Given the description of an element on the screen output the (x, y) to click on. 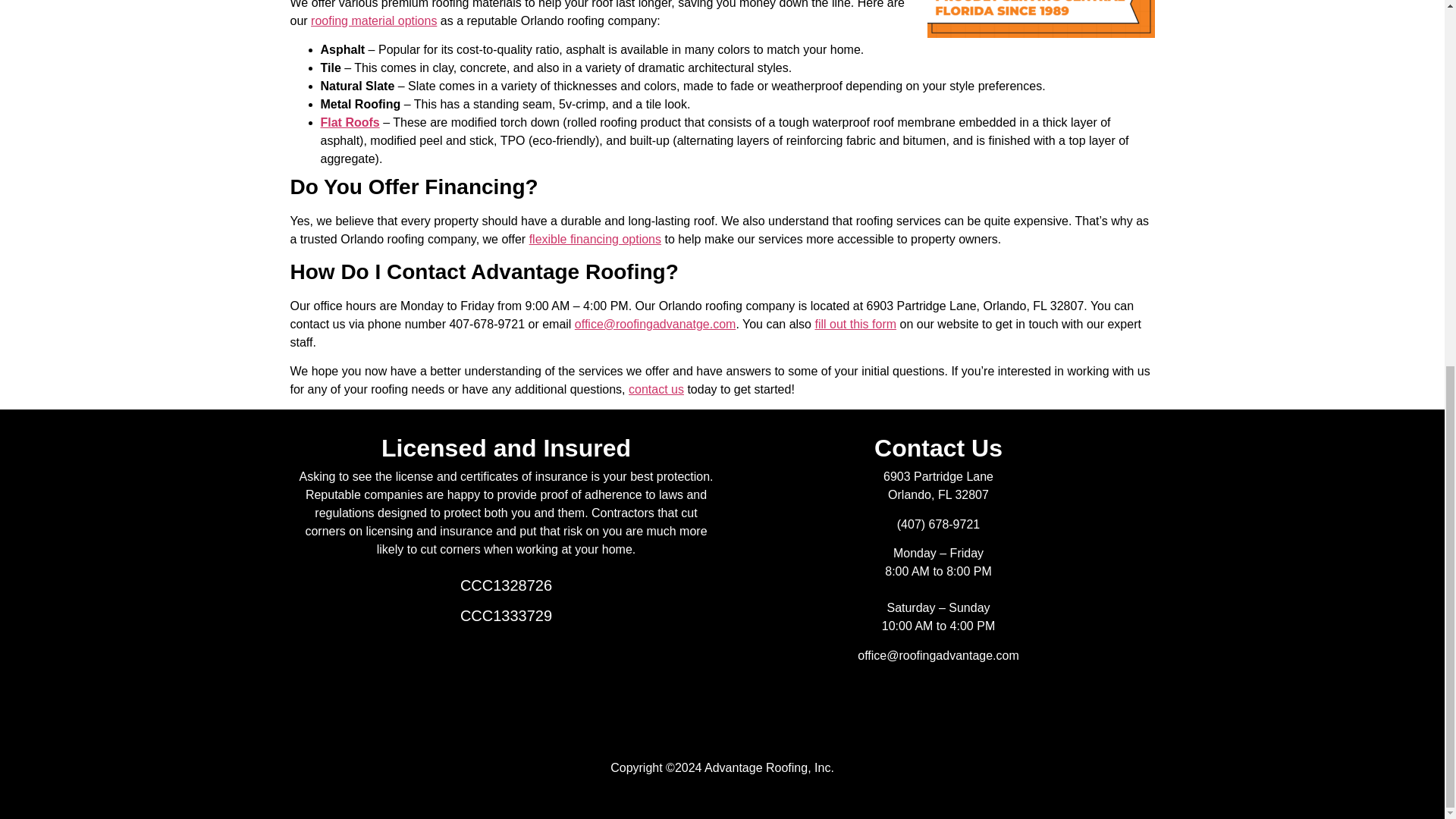
roofing material options (373, 20)
